Given the description of an element on the screen output the (x, y) to click on. 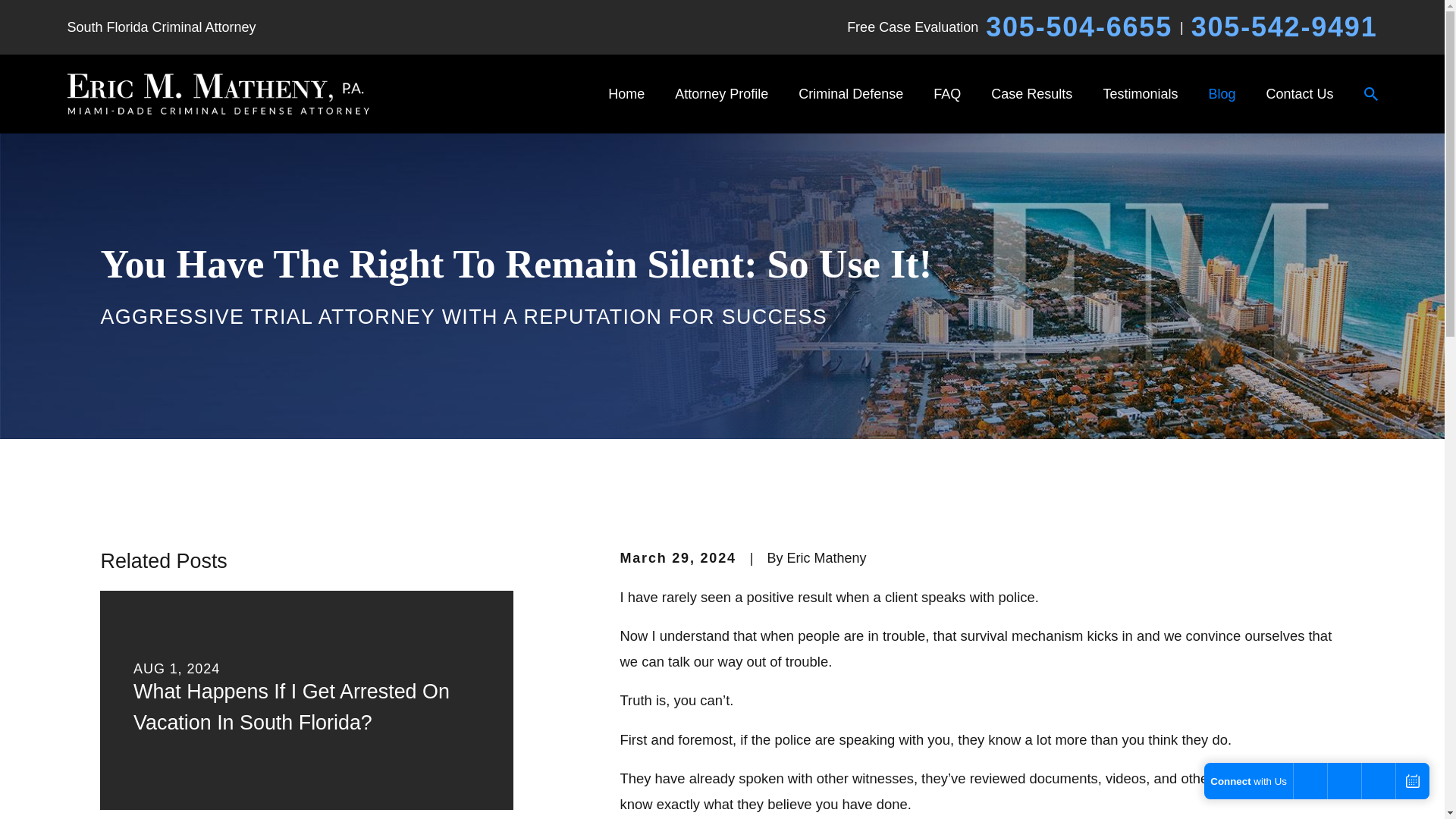
Criminal Defense (849, 93)
Attorney Profile (721, 93)
Home (217, 93)
305-542-9491 (1284, 26)
305-504-6655 (1078, 26)
